Given the description of an element on the screen output the (x, y) to click on. 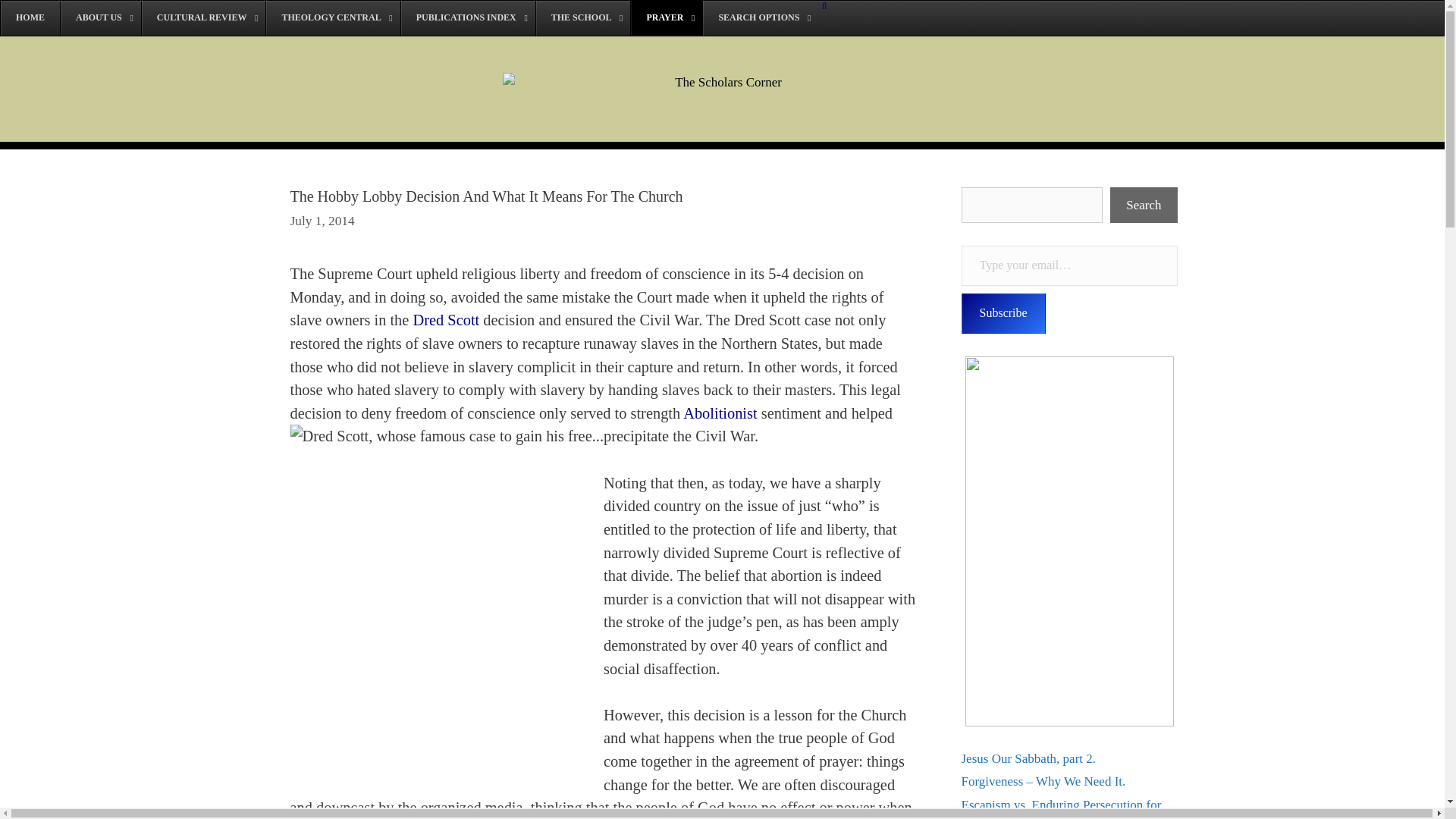
Dred Scott Decision (445, 320)
CULTURAL REVIEW (203, 18)
Abolitionist (719, 412)
HOME (30, 18)
ABOUT US (100, 18)
